Given the description of an element on the screen output the (x, y) to click on. 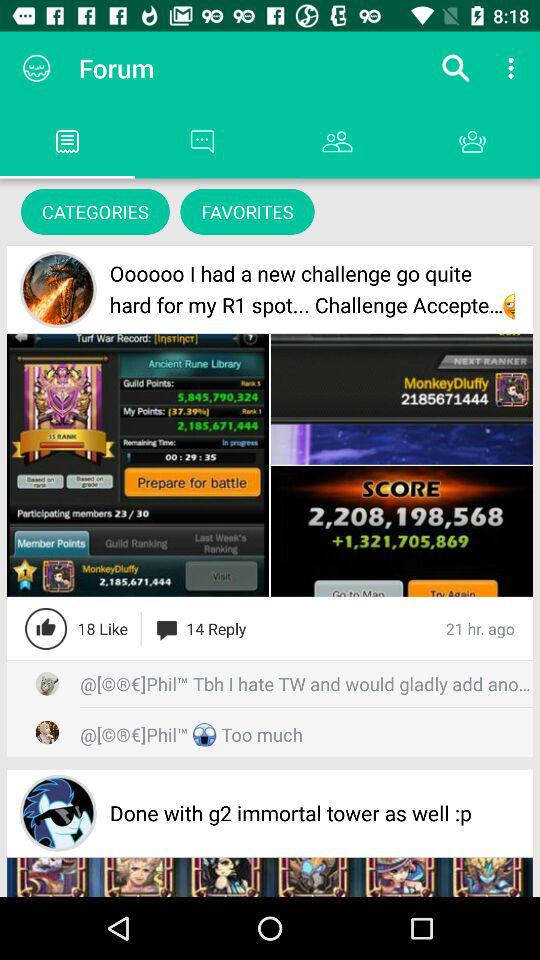
press item to the right of categories (247, 211)
